Given the description of an element on the screen output the (x, y) to click on. 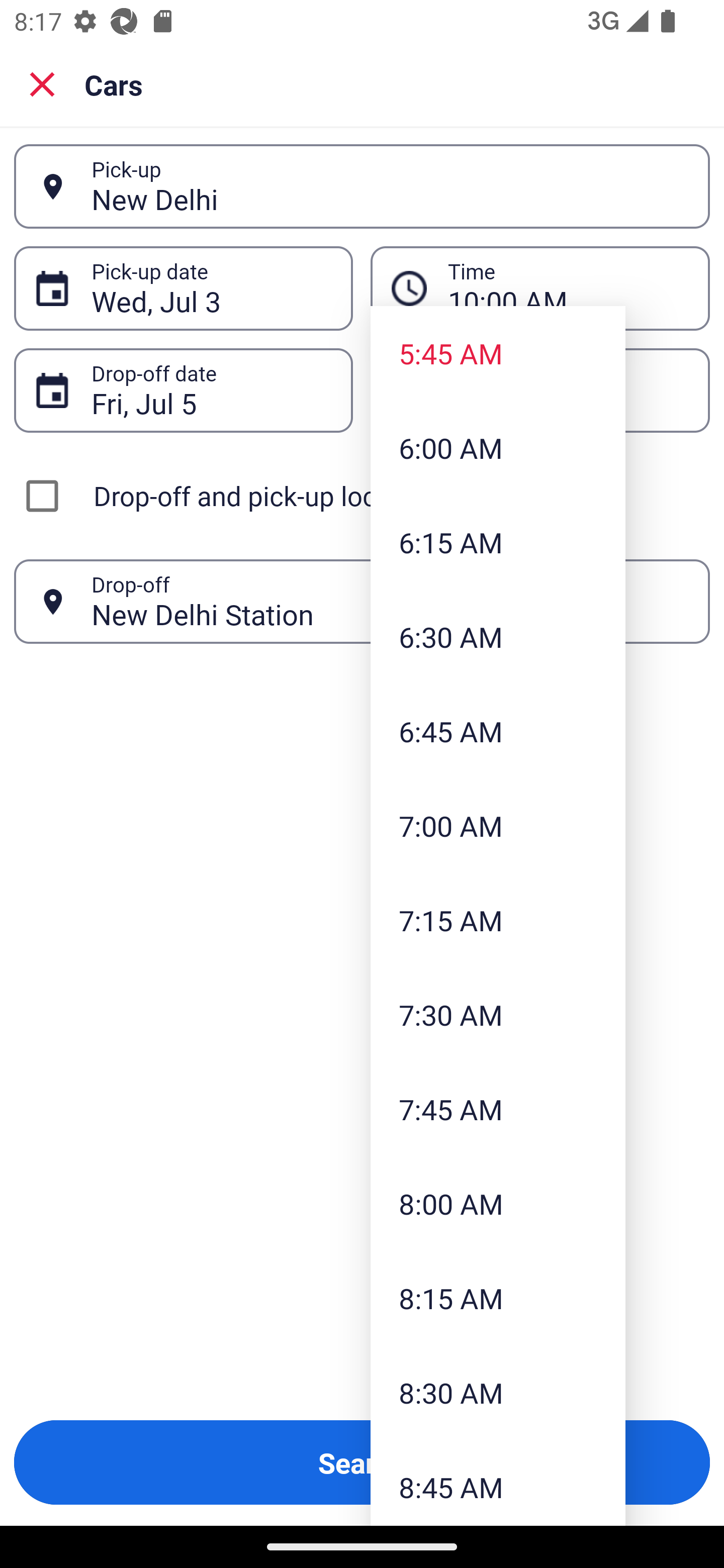
5:45 AM (497, 352)
6:00 AM (497, 447)
6:15 AM (497, 542)
6:30 AM (497, 636)
6:45 AM (497, 730)
7:00 AM (497, 825)
7:15 AM (497, 920)
7:30 AM (497, 1014)
7:45 AM (497, 1109)
8:00 AM (497, 1204)
8:15 AM (497, 1298)
8:30 AM (497, 1392)
8:45 AM (497, 1482)
